Given the description of an element on the screen output the (x, y) to click on. 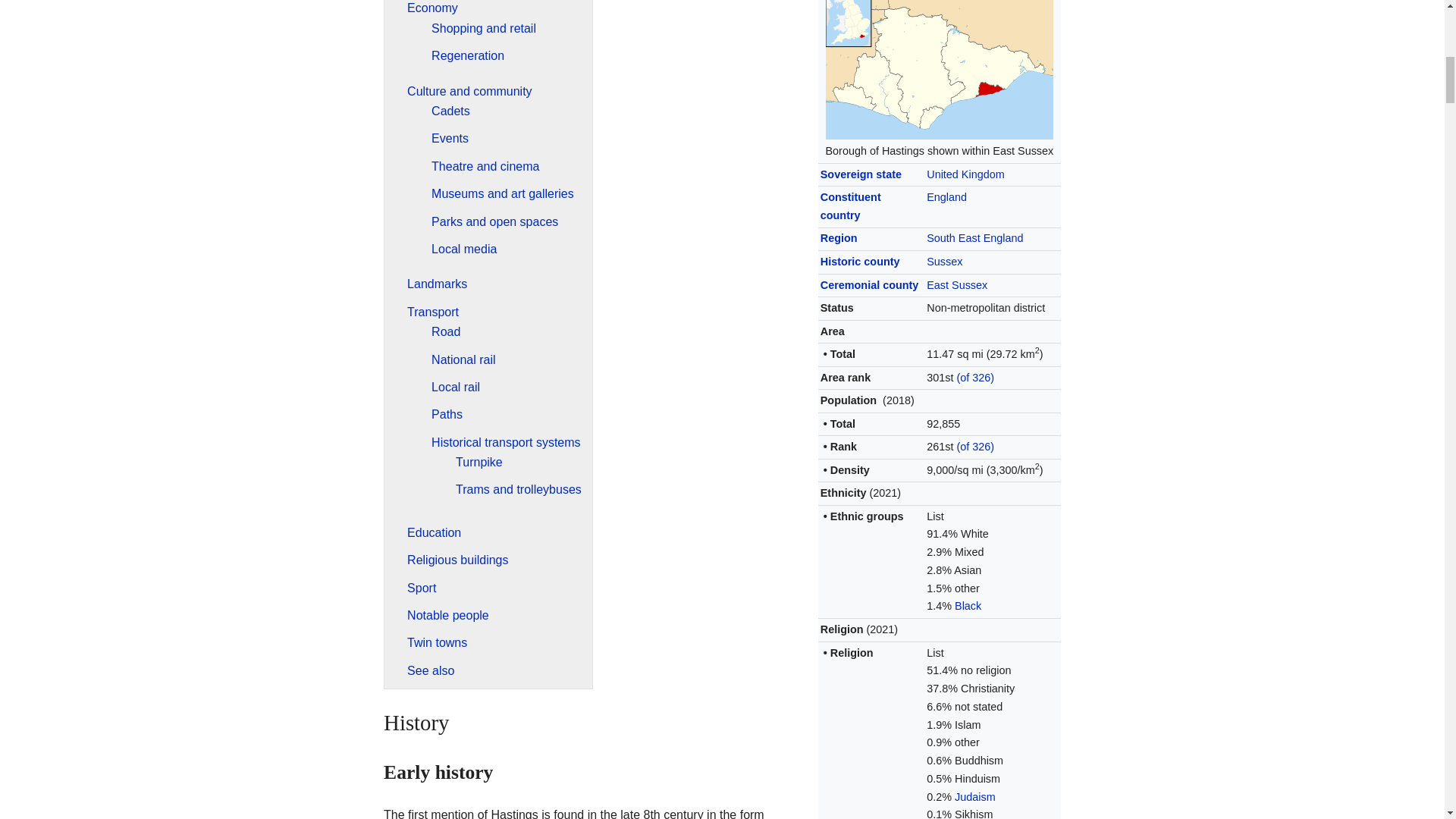
Ceremonial county (869, 285)
Countries of the United Kingdom (850, 205)
Historic county (860, 261)
East Sussex (956, 285)
United Kingdom (965, 174)
Black British people (968, 605)
South East England (974, 237)
South East England (974, 237)
East Sussex (956, 285)
United Kingdom (965, 174)
Sovereign state (861, 174)
List of English districts by population (975, 446)
England (946, 196)
Sussex (944, 261)
England (946, 196)
